Given the description of an element on the screen output the (x, y) to click on. 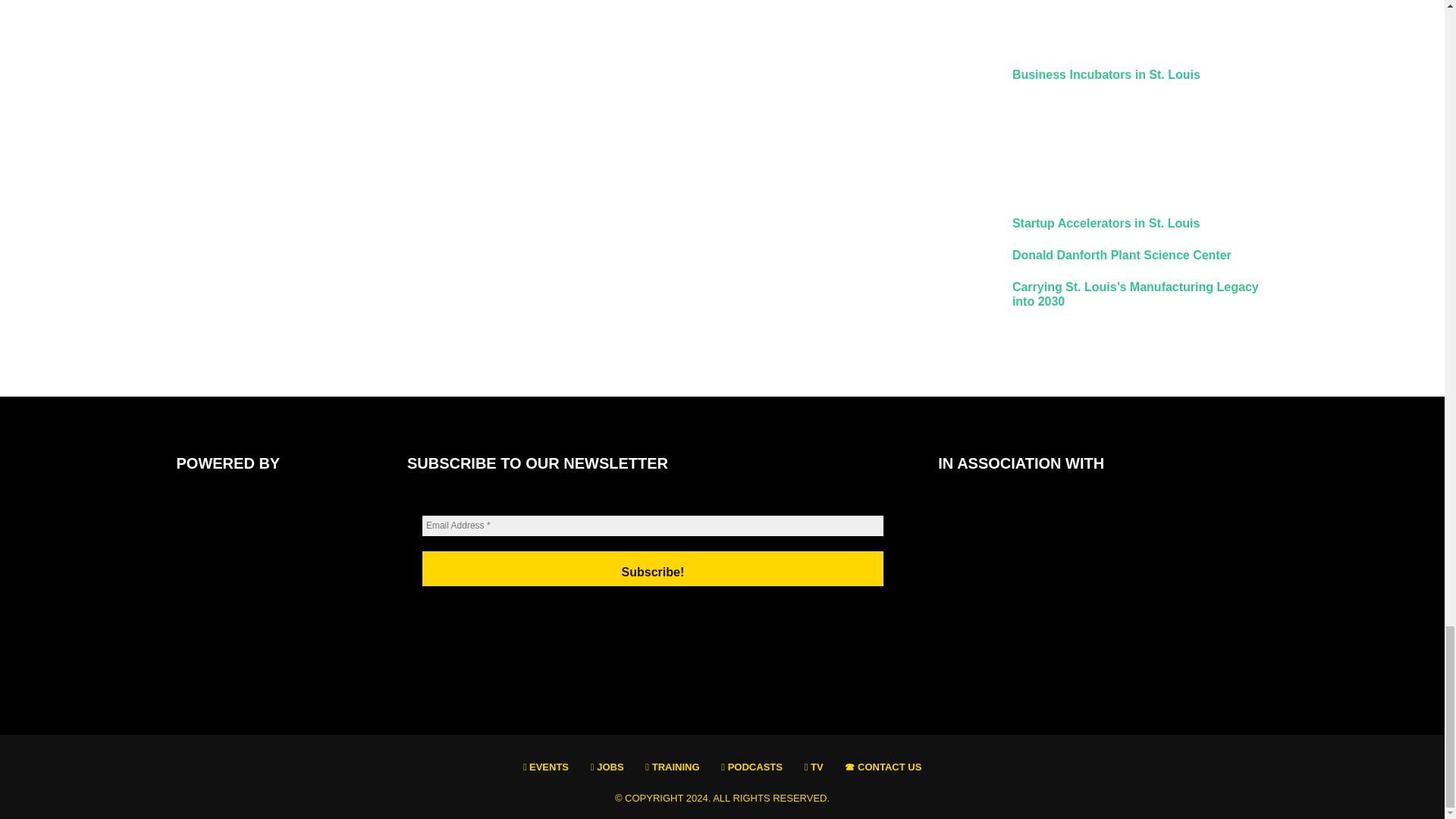
Email Address (652, 525)
Powered by: (271, 576)
In association with: (1031, 575)
Subscribe! (652, 568)
